Given the description of an element on the screen output the (x, y) to click on. 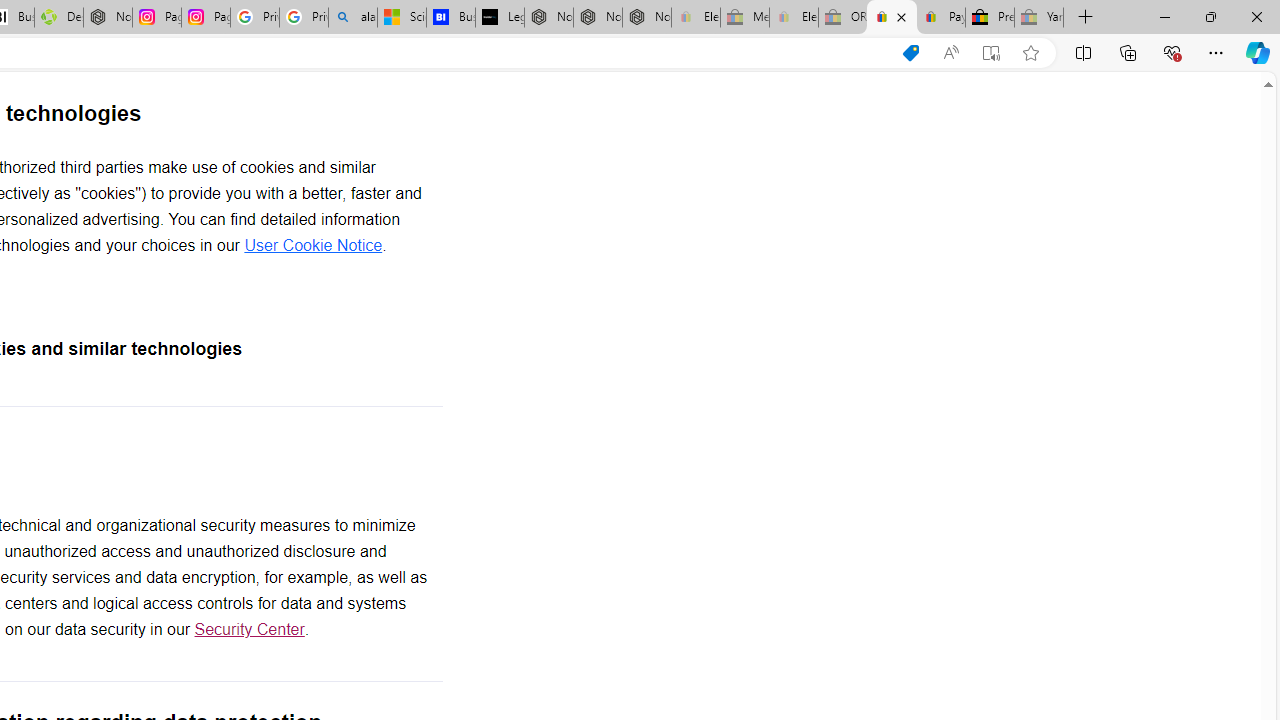
User Cookie Notice (313, 245)
This site has coupons! Shopping in Microsoft Edge (910, 53)
User Privacy Notice | eBay (891, 17)
Enter Immersive Reader (F9) (991, 53)
Security Center - opens in new window or tab (249, 629)
Payments Terms of Use | eBay.com (940, 17)
